Given the description of an element on the screen output the (x, y) to click on. 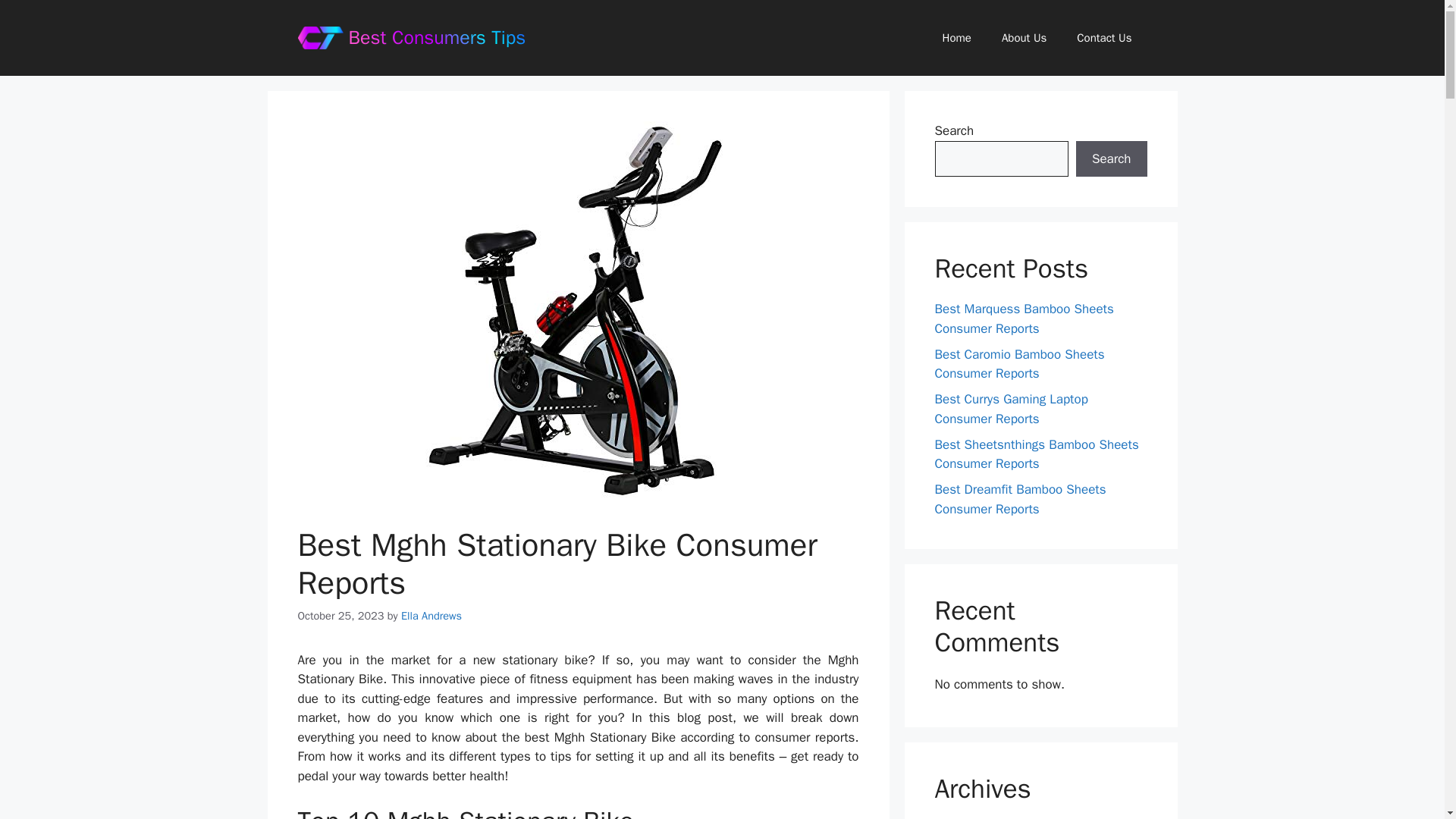
Ella Andrews (431, 615)
Home (957, 37)
Contact Us (1104, 37)
Best Consumers Tips (437, 37)
View all posts by Ella Andrews (431, 615)
About Us (1024, 37)
